Given the description of an element on the screen output the (x, y) to click on. 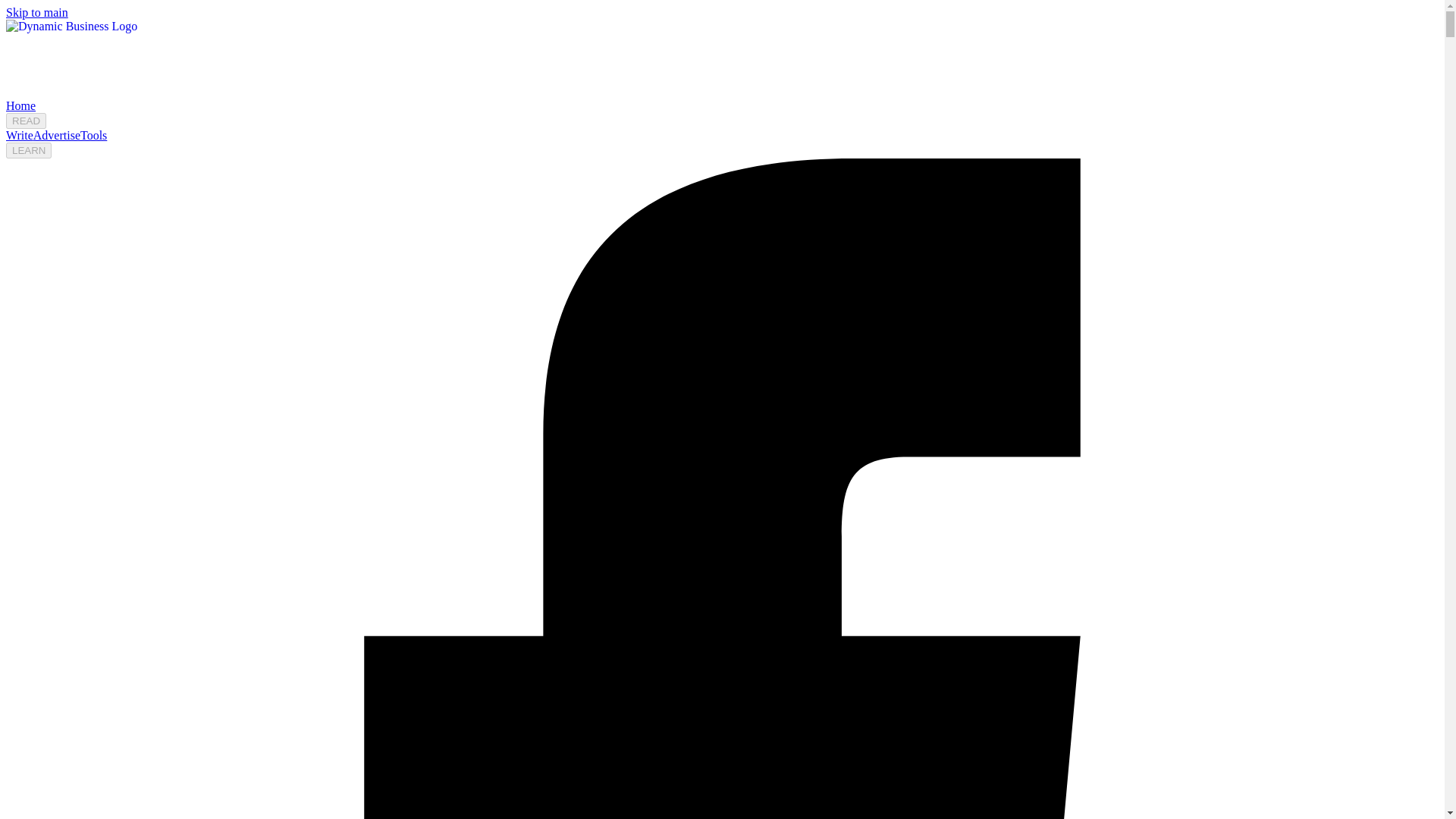
Advertise (56, 134)
Home (19, 105)
READ (25, 120)
Write (19, 134)
Skip to main (36, 11)
LEARN (27, 150)
Tools (93, 134)
